Given the description of an element on the screen output the (x, y) to click on. 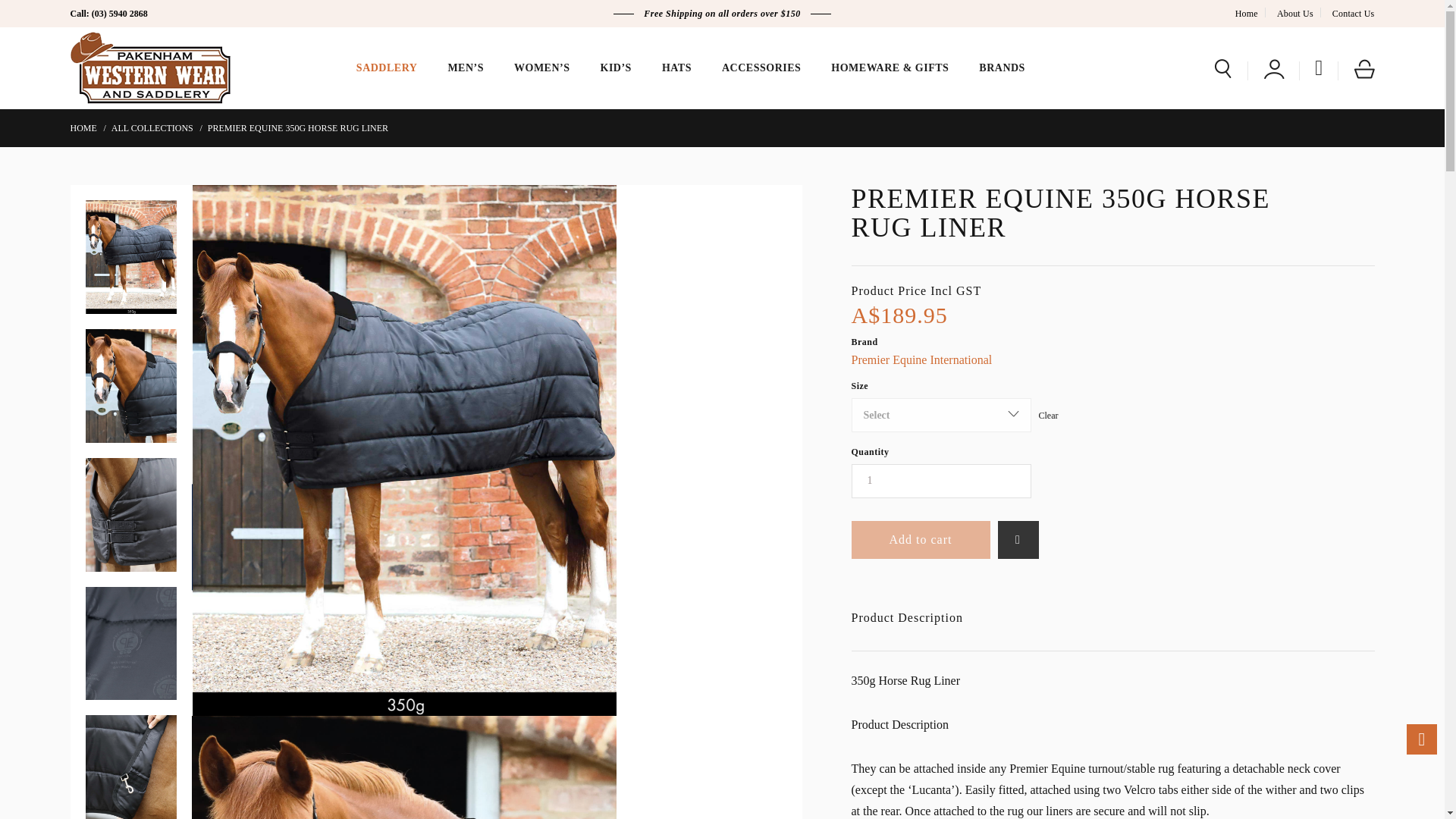
1 (940, 480)
search-icon (1222, 68)
cart-icon (1363, 68)
user-icon (1273, 68)
